Given the description of an element on the screen output the (x, y) to click on. 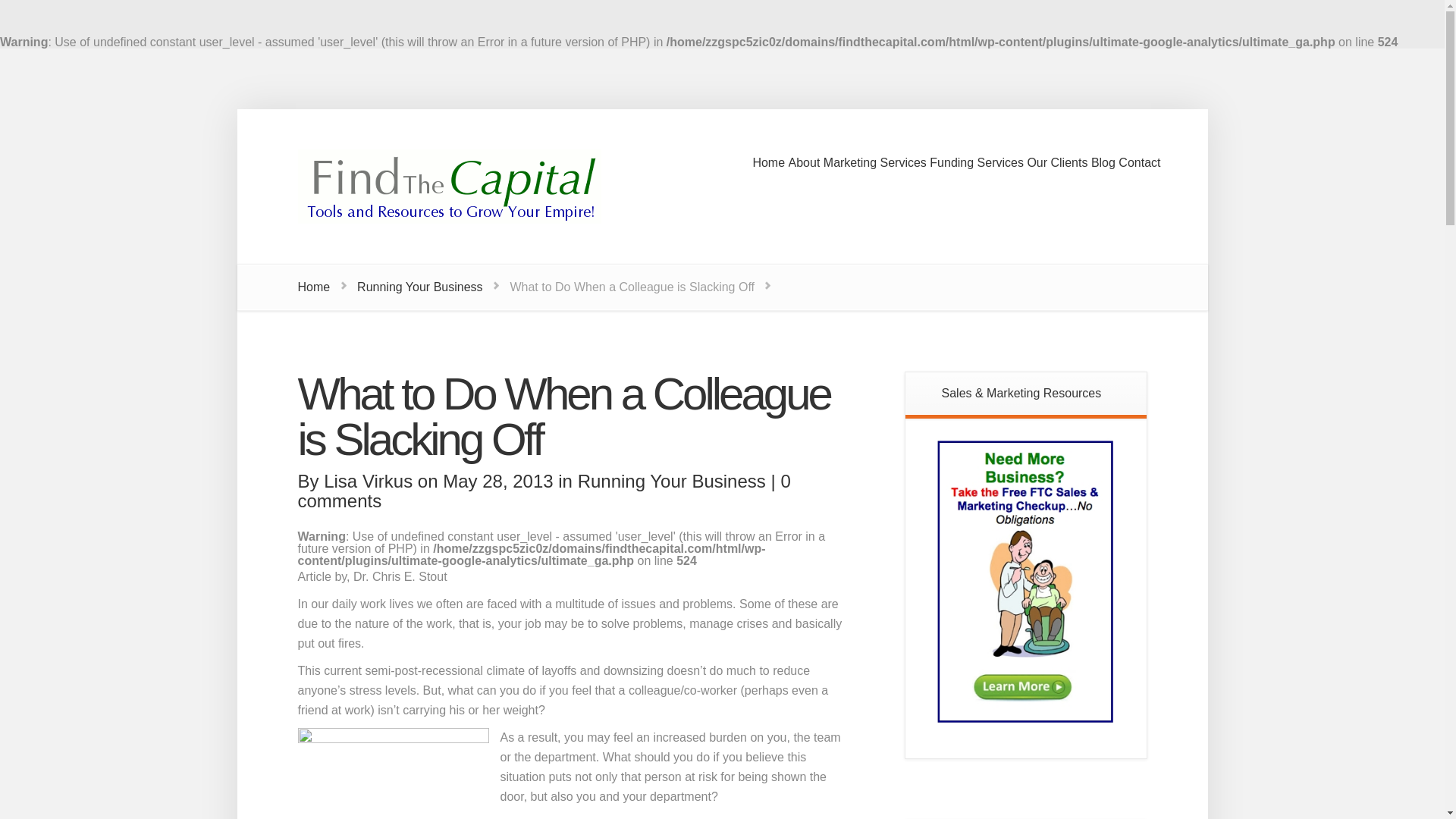
Running Your Business (671, 480)
Our Clients (1056, 173)
Home (313, 286)
Contact (1139, 173)
0 comments (543, 490)
Marketing Services (875, 173)
Funding Services (976, 173)
Home (768, 173)
About (805, 173)
Running Your Business (418, 286)
